Given the description of an element on the screen output the (x, y) to click on. 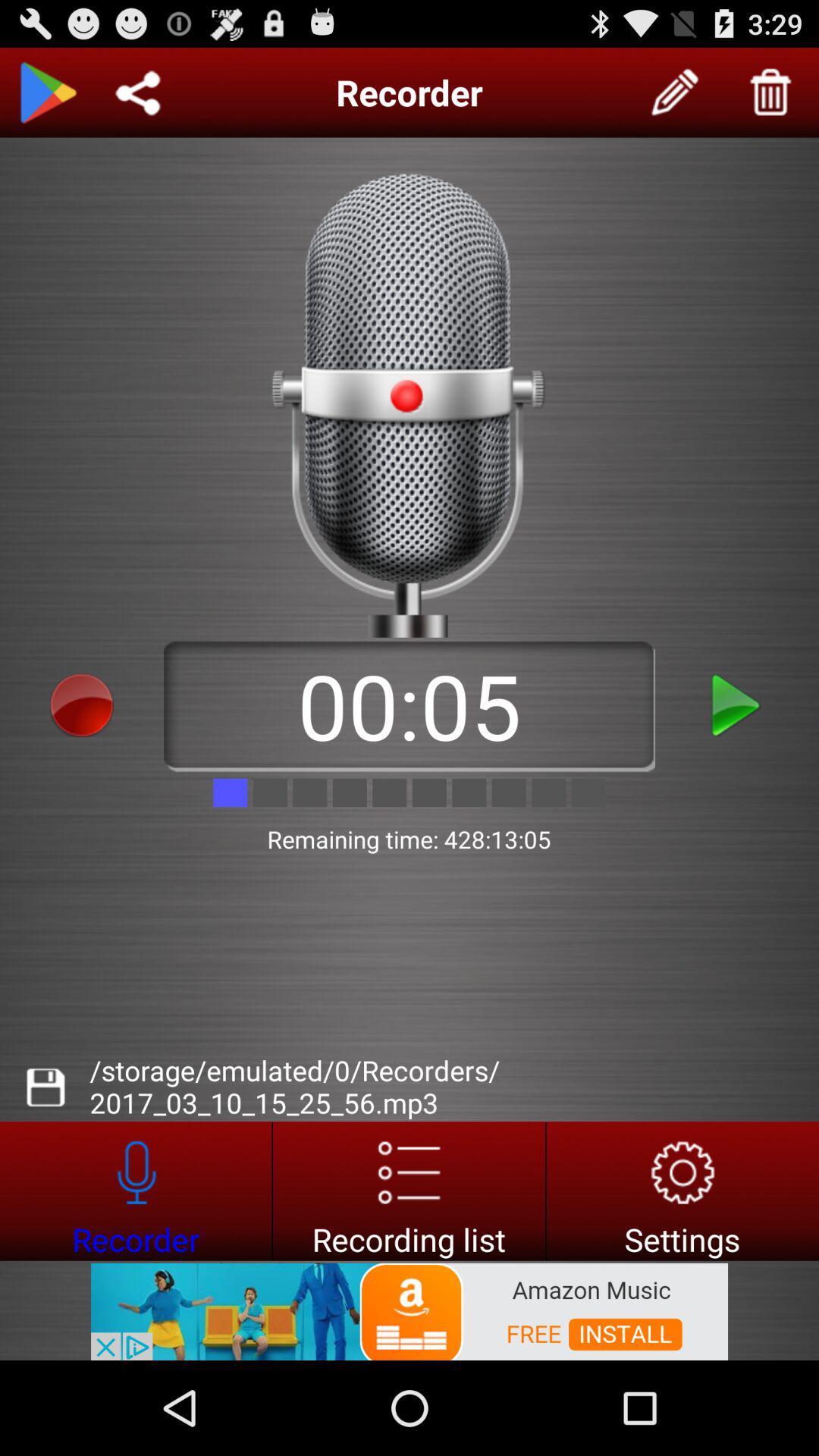
delete recording (771, 92)
